Given the description of an element on the screen output the (x, y) to click on. 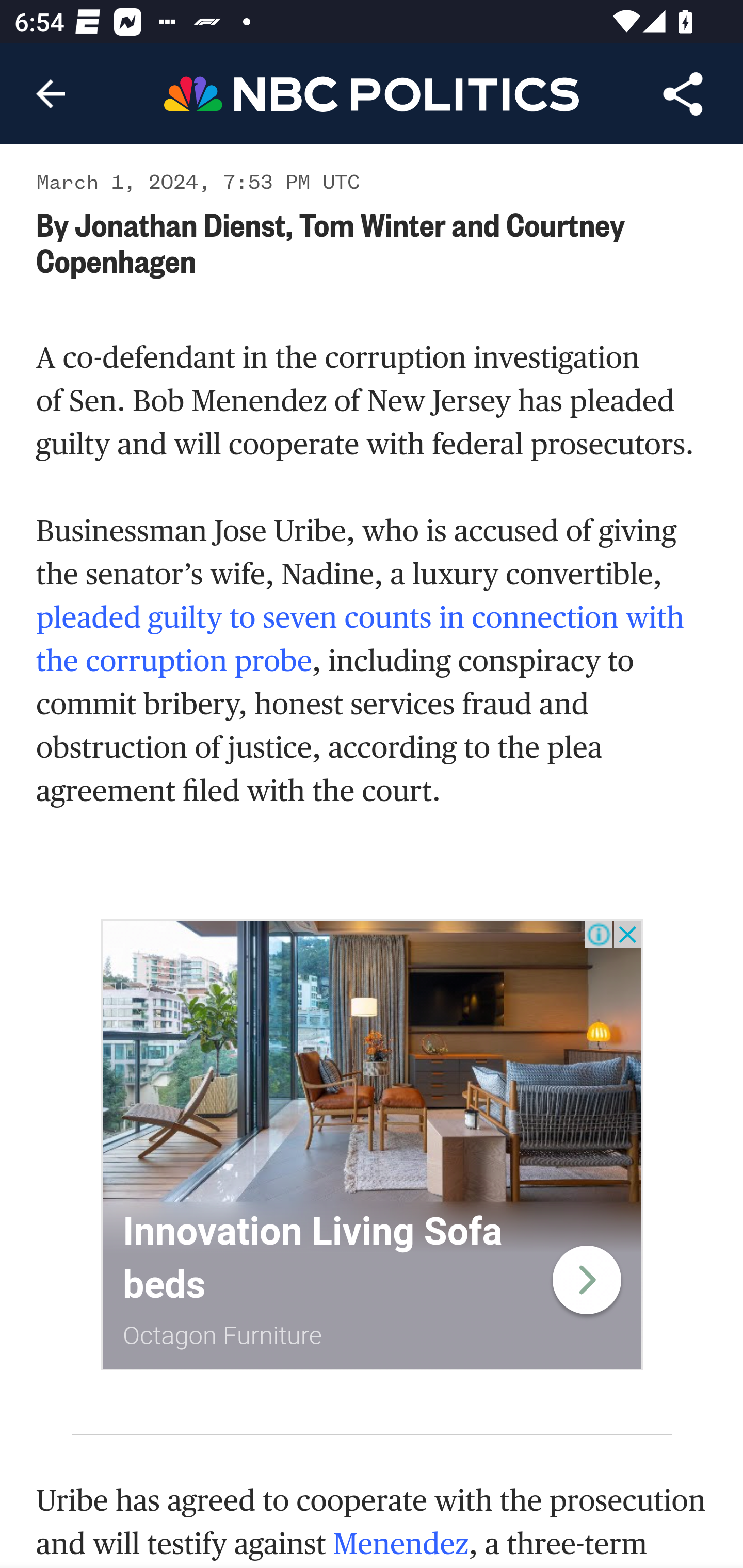
Navigate up (50, 93)
Share Article, button (683, 94)
Header, NBC Politics (371, 93)
Octagon Furniture (222, 1334)
Menendez (400, 1544)
